Given the description of an element on the screen output the (x, y) to click on. 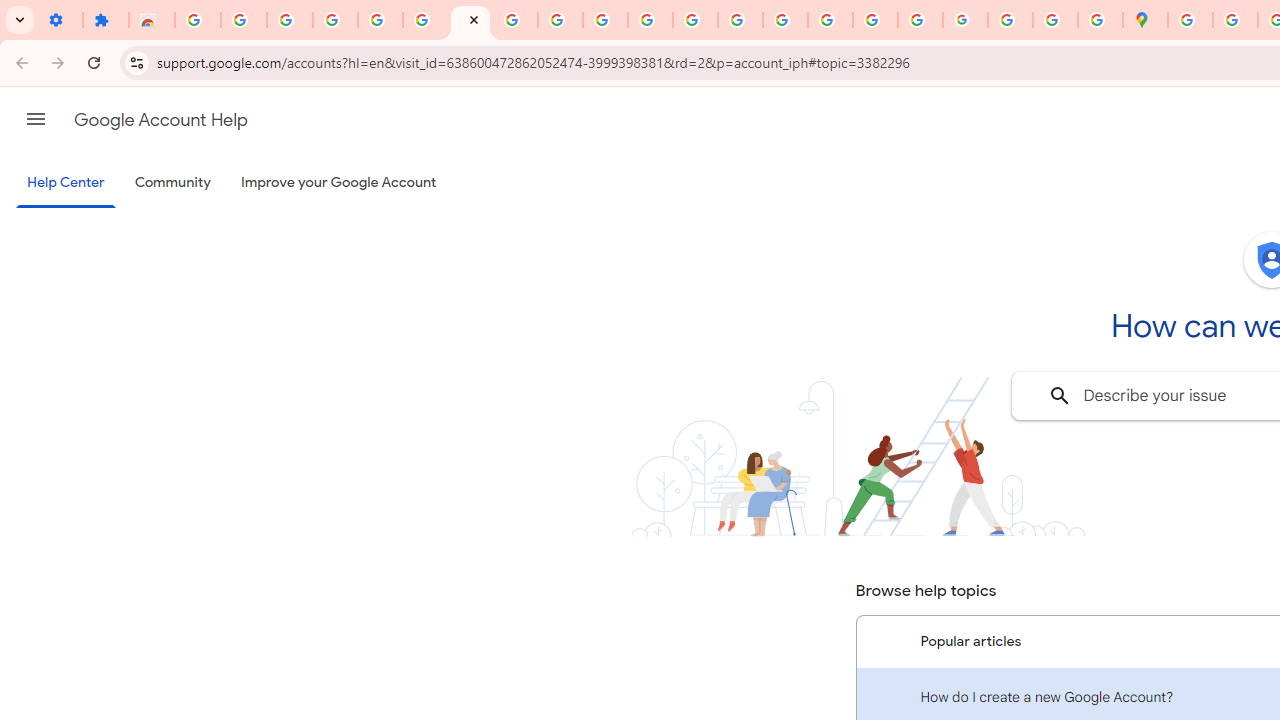
Settings - On startup (60, 20)
Extensions (106, 20)
Google Account Help (160, 119)
Google Maps (1145, 20)
Google Account Help (425, 20)
Learn how to find your photos - Google Photos Help (290, 20)
